Given the description of an element on the screen output the (x, y) to click on. 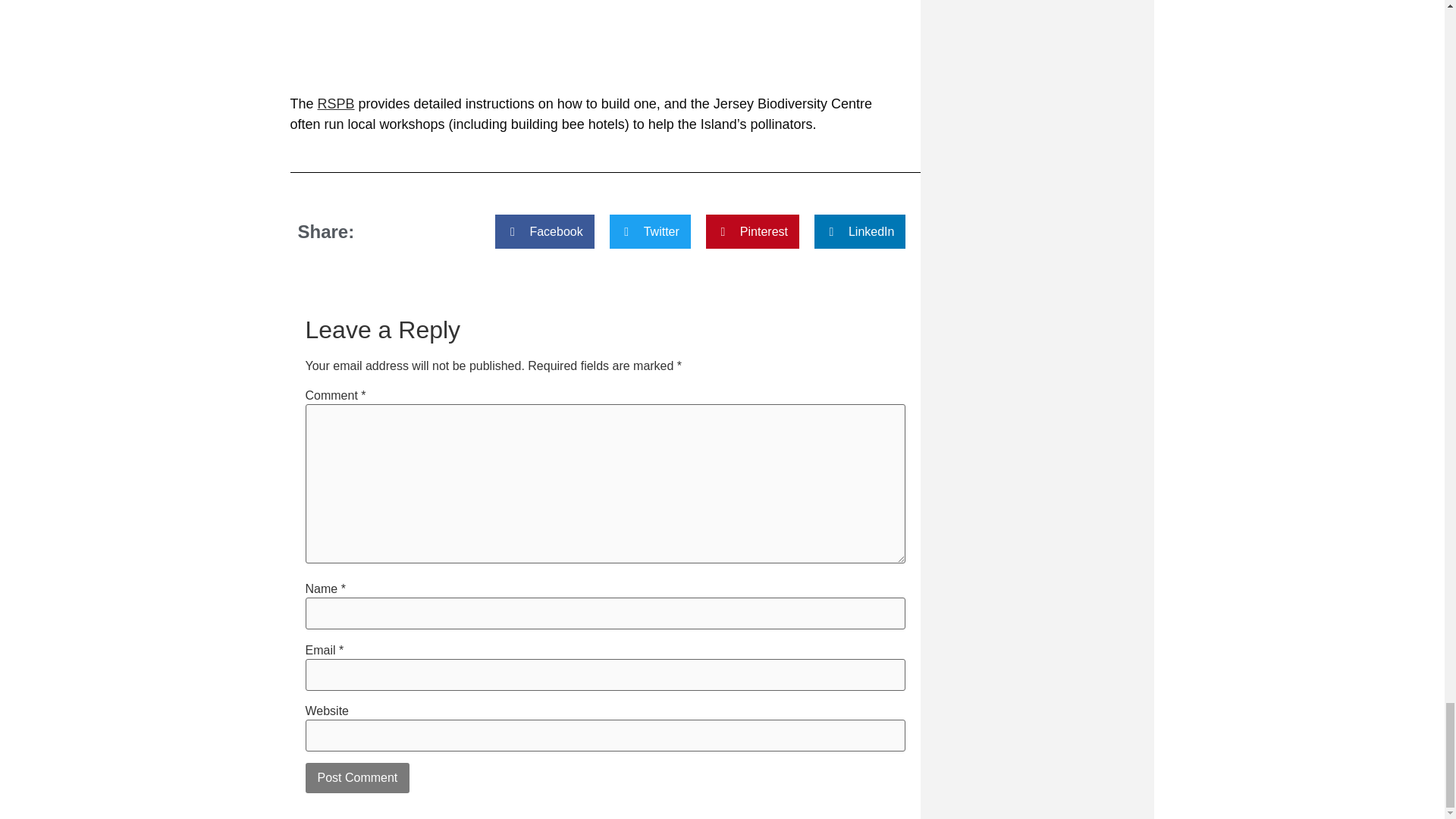
RSPB (336, 103)
Post Comment (356, 777)
Post Comment (356, 777)
